Given the description of an element on the screen output the (x, y) to click on. 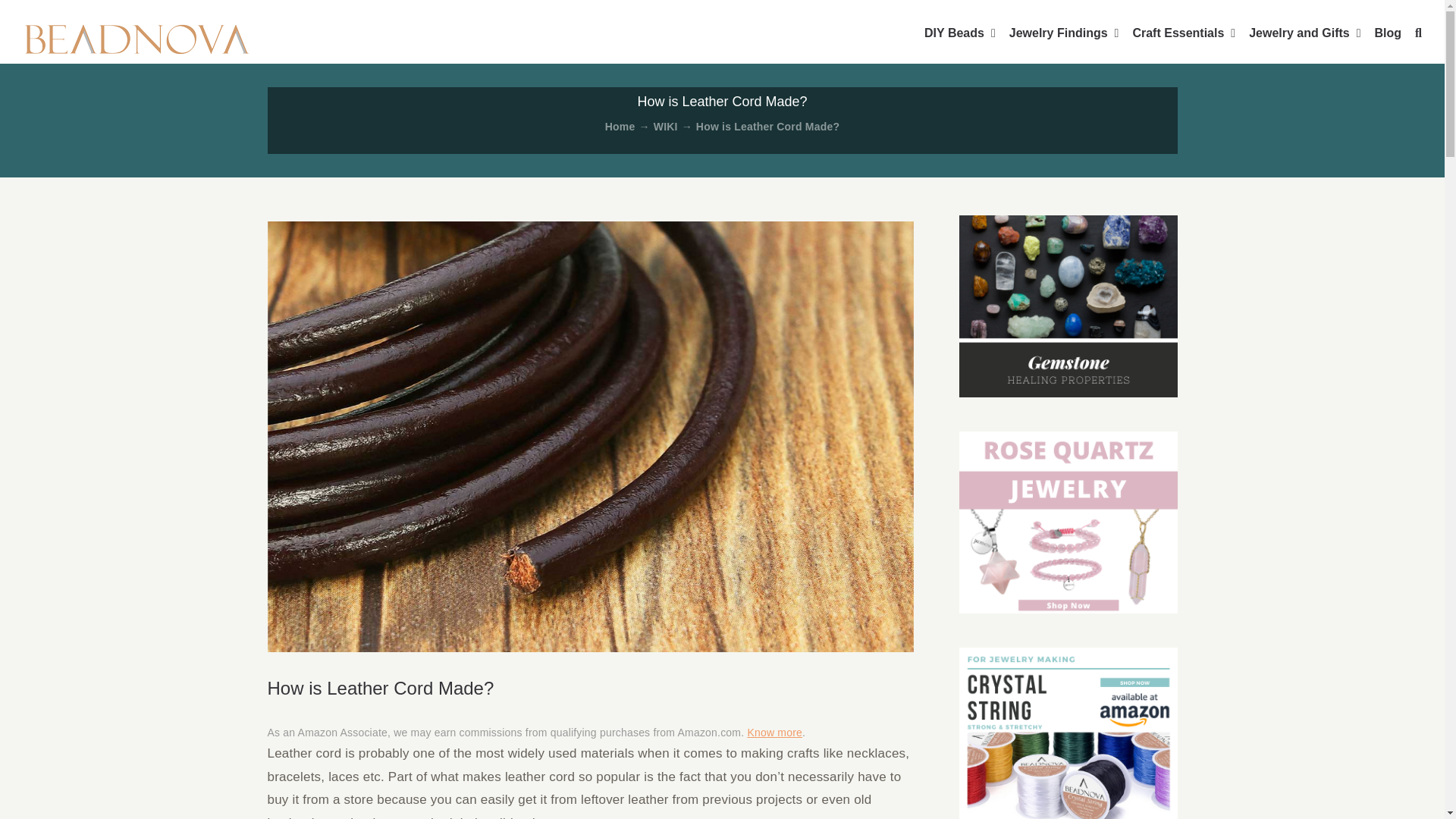
Click here to know more (774, 732)
Jewelry Findings (1064, 31)
DIY Beads (959, 31)
